Given the description of an element on the screen output the (x, y) to click on. 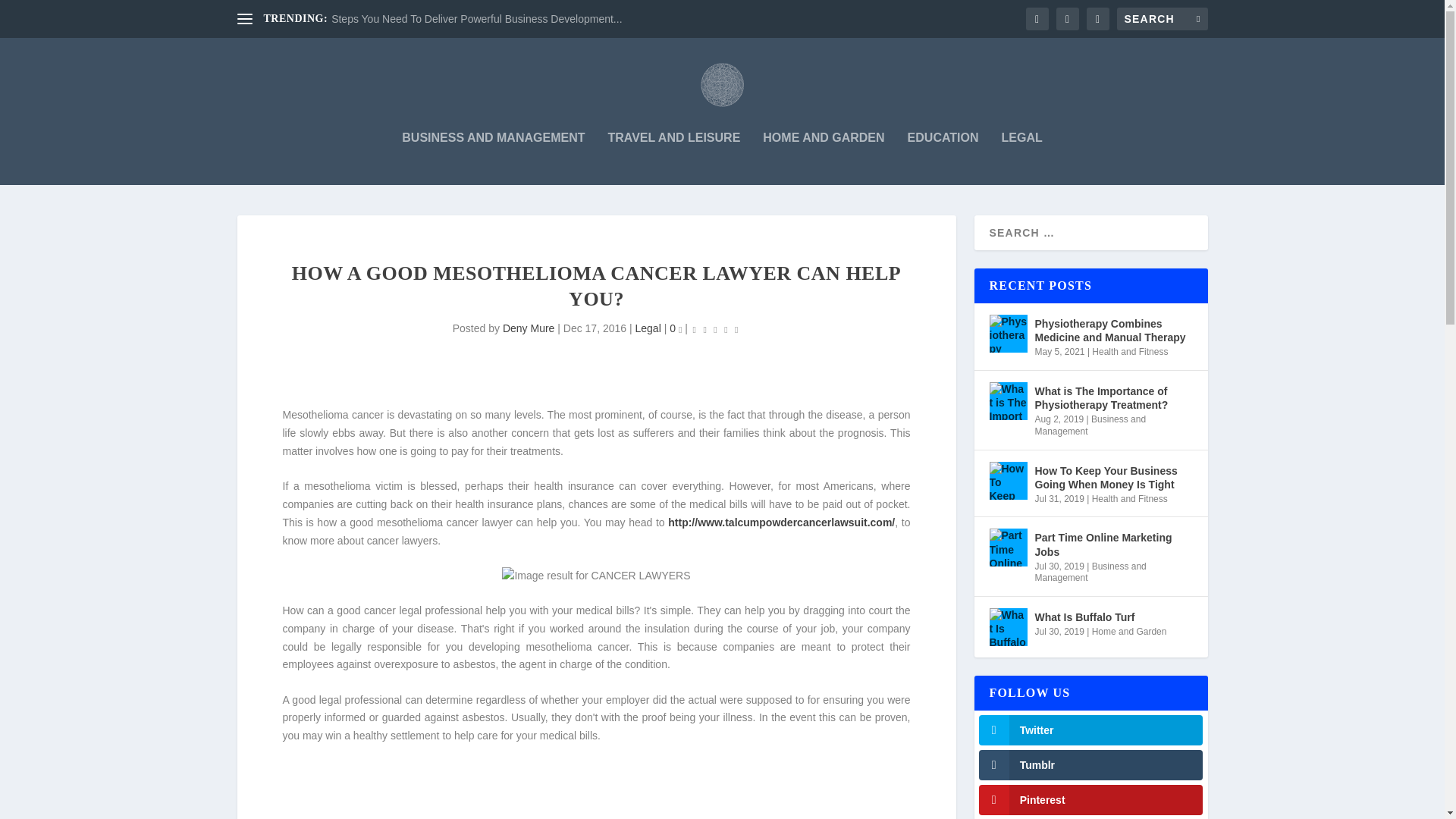
Posts by Deny Mure (528, 328)
Legal (647, 328)
0 (675, 328)
HOME AND GARDEN (822, 158)
EDUCATION (942, 158)
BUSINESS AND MANAGEMENT (493, 158)
Rating: 0.00 (715, 329)
Steps You Need To Deliver Powerful Business Development... (476, 19)
TRAVEL AND LEISURE (673, 158)
Search for: (1161, 18)
